Given the description of an element on the screen output the (x, y) to click on. 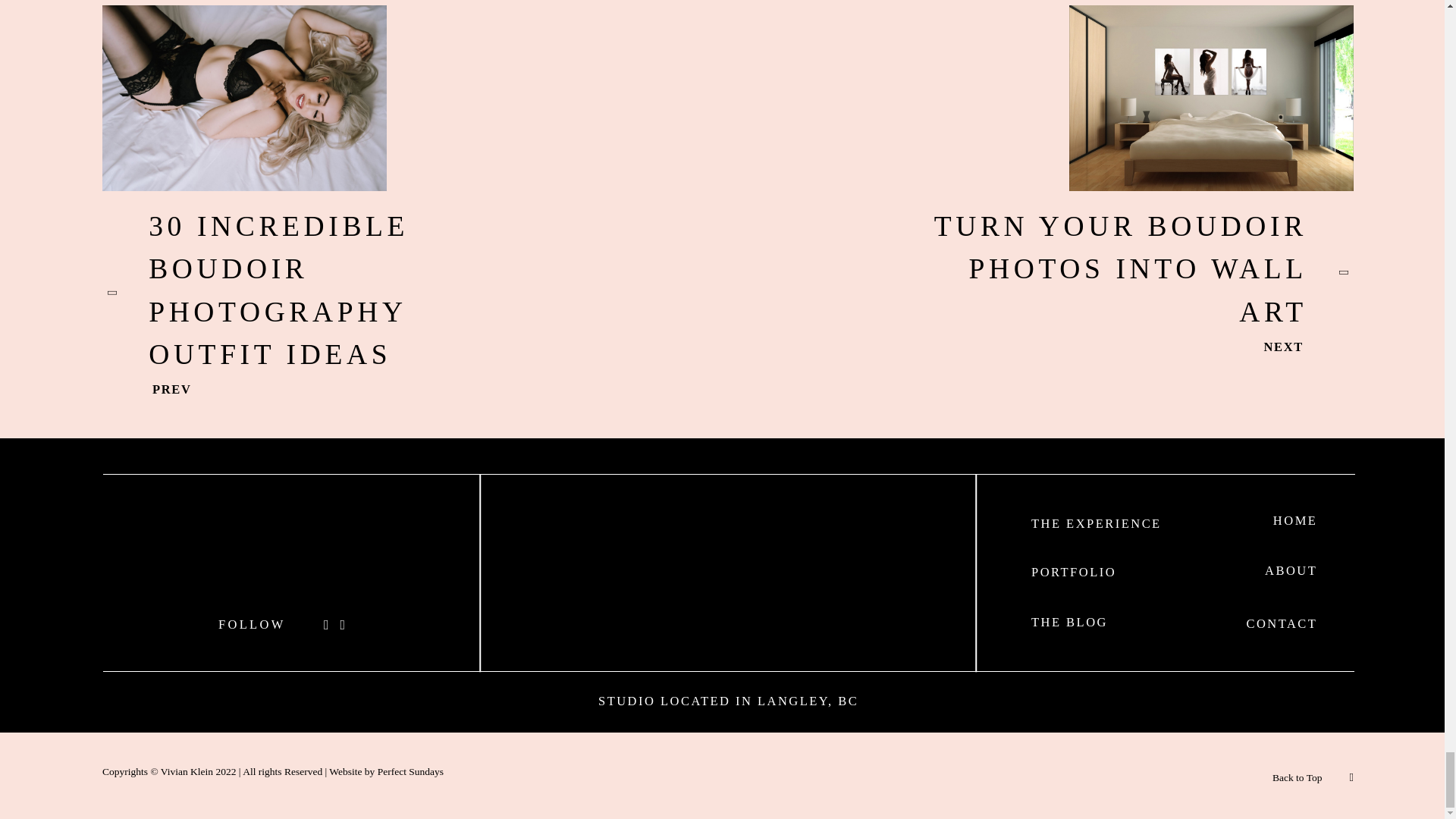
CONTACT (1281, 623)
30 INCREDIBLE BOUDOIR PHOTOGRAPHY OUTFIT IDEAS (320, 292)
HOME (1294, 520)
ABOUT (1291, 570)
PREV (146, 389)
Back to Top (1297, 778)
NEXT (1308, 347)
THE EXPERIENCE (1095, 523)
TURN YOUR BOUDOIR PHOTOS INTO WALL ART (1134, 271)
PORTFOLIO (1073, 572)
THE BLOG (1069, 622)
Back to Top (1313, 775)
